Given the description of an element on the screen output the (x, y) to click on. 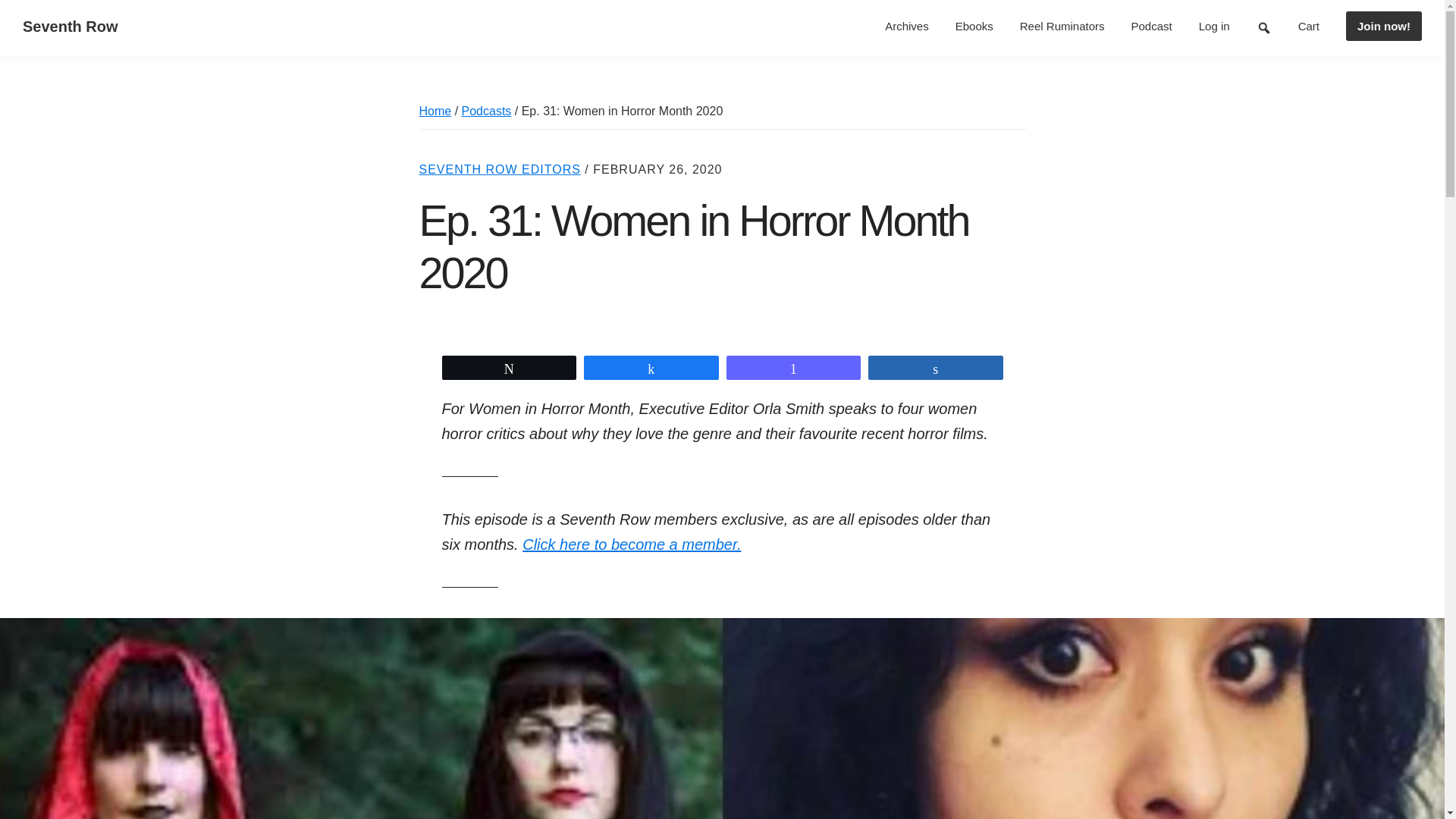
Podcast (1151, 25)
Archives (906, 25)
Cart (1308, 25)
Seventh Row (70, 26)
Ebooks (973, 25)
Reel Ruminators (1062, 25)
Search (1263, 28)
Join now! (1383, 25)
Log in (1214, 25)
